Given the description of an element on the screen output the (x, y) to click on. 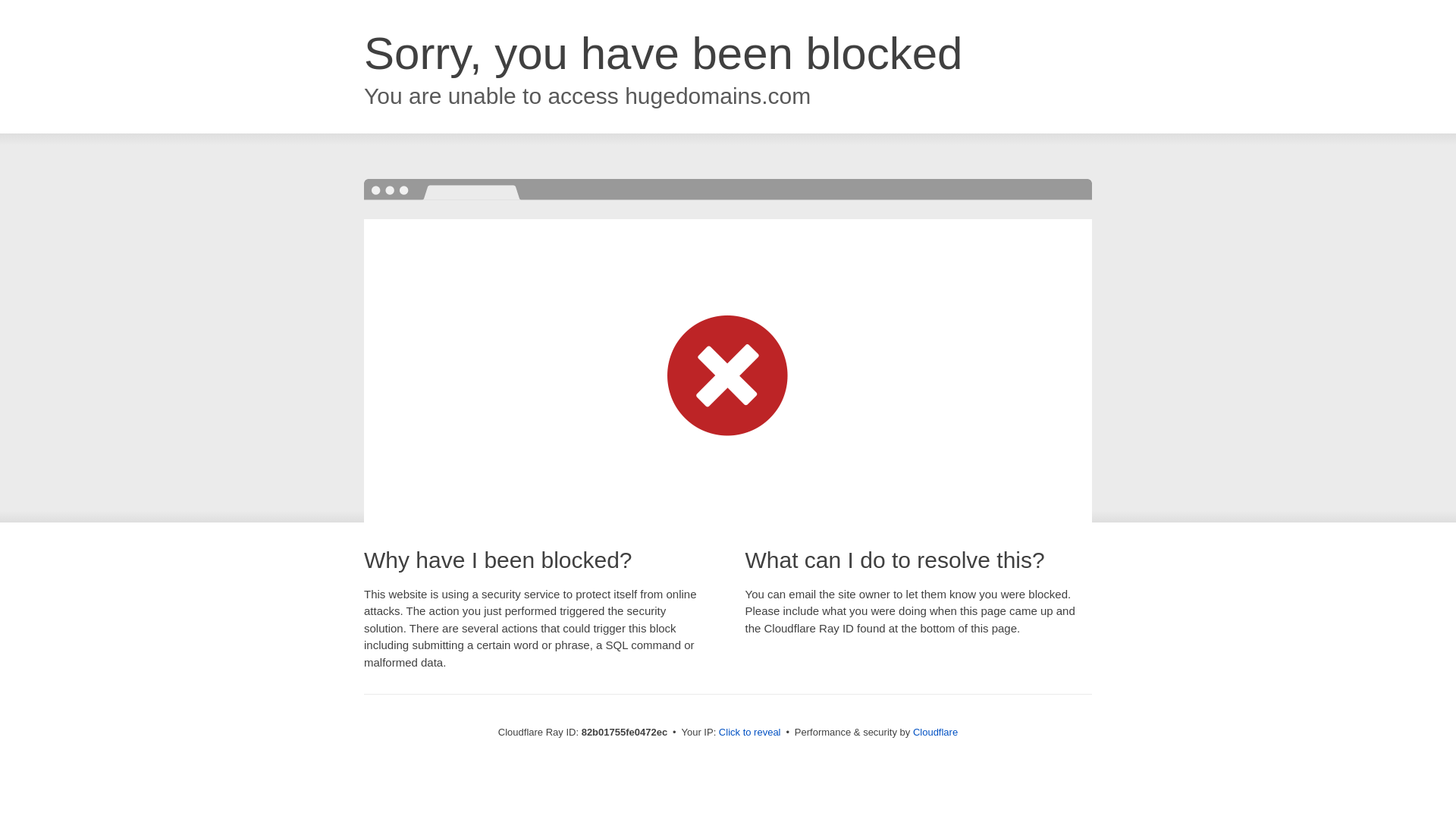
Click to reveal Element type: text (749, 732)
Cloudflare Element type: text (935, 731)
